Given the description of an element on the screen output the (x, y) to click on. 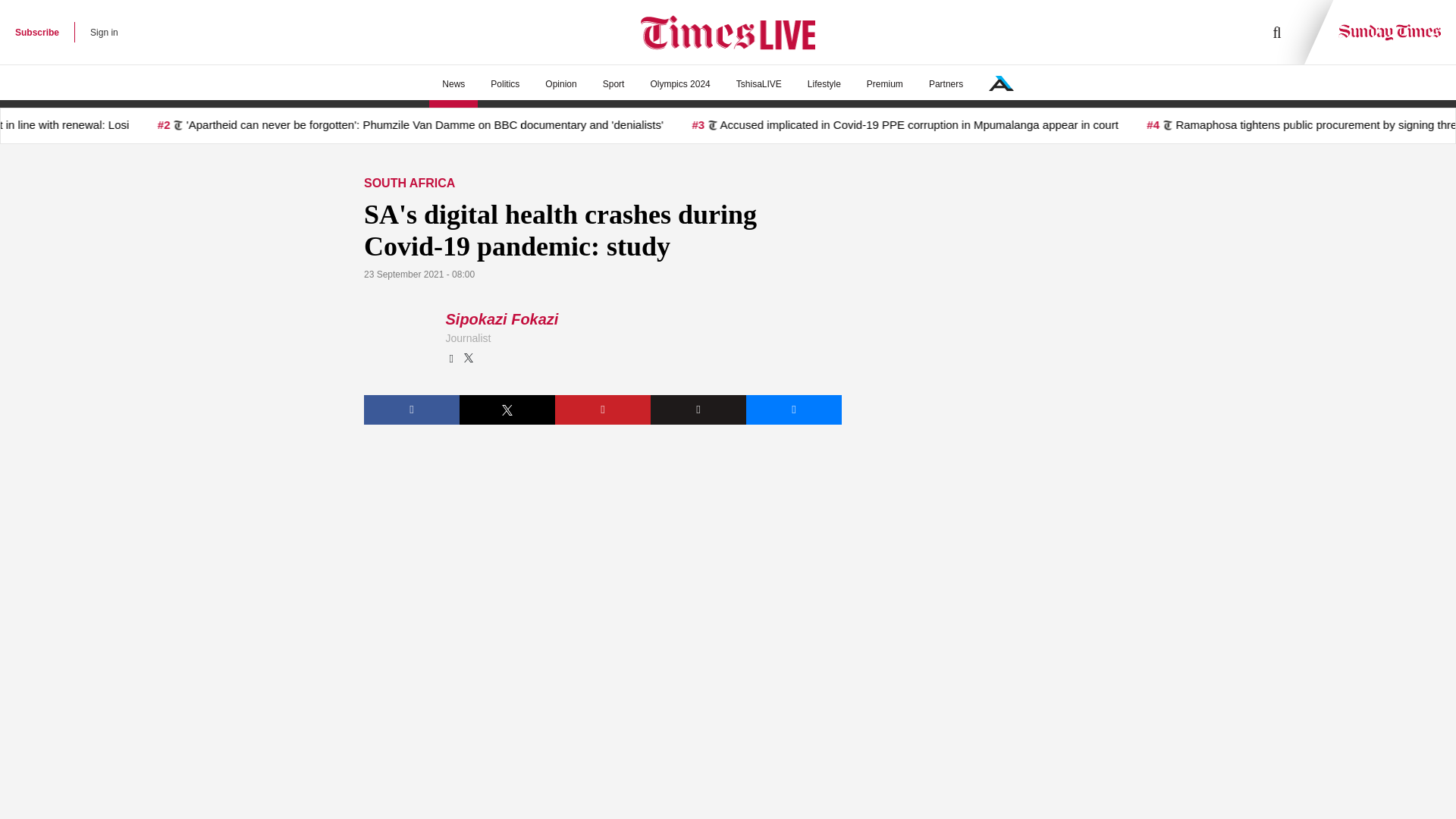
Subscribe (36, 32)
TshisaLIVE (758, 84)
Lifestyle (823, 84)
Sign in (103, 32)
News (453, 84)
Our Network (1000, 83)
Partners (945, 84)
Olympics 2024 (679, 84)
Sport (613, 84)
Premium (884, 84)
Politics (504, 84)
Opinion (560, 84)
